Given the description of an element on the screen output the (x, y) to click on. 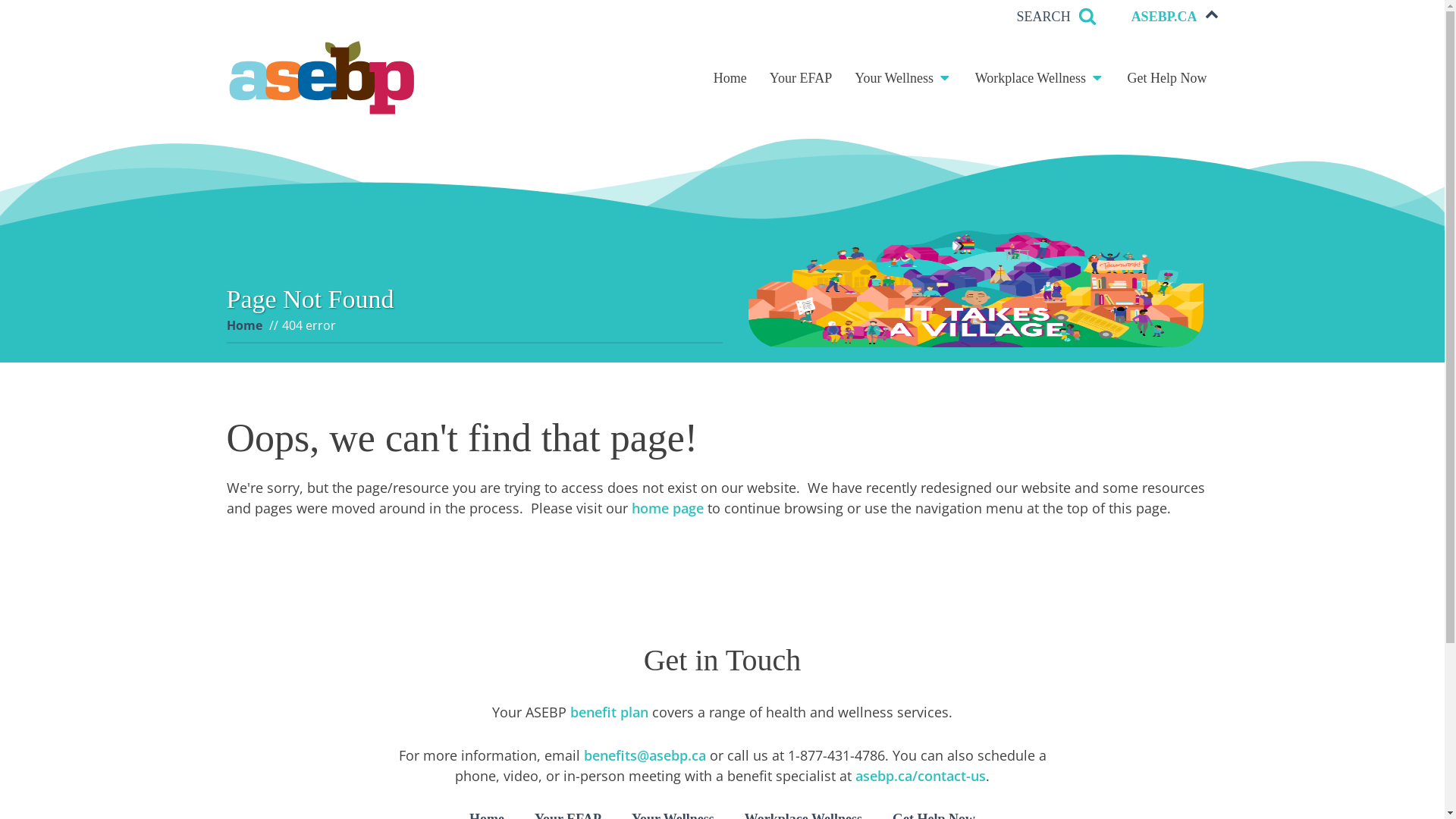
benefits@asebp.ca Element type: text (644, 755)
Home Element type: text (243, 324)
asebp.ca/contact-us Element type: text (920, 775)
Your Wellness Element type: text (903, 78)
SEARCH Element type: text (1056, 17)
Home Element type: text (730, 78)
home page Element type: text (666, 507)
Get Help Now Element type: text (1167, 78)
Search Element type: text (27, 10)
Workplace Wellness Element type: text (1039, 78)
Your EFAP Element type: text (800, 78)
benefit plan Element type: text (609, 711)
ASEBP.CA Element type: text (1174, 16)
